Given the description of an element on the screen output the (x, y) to click on. 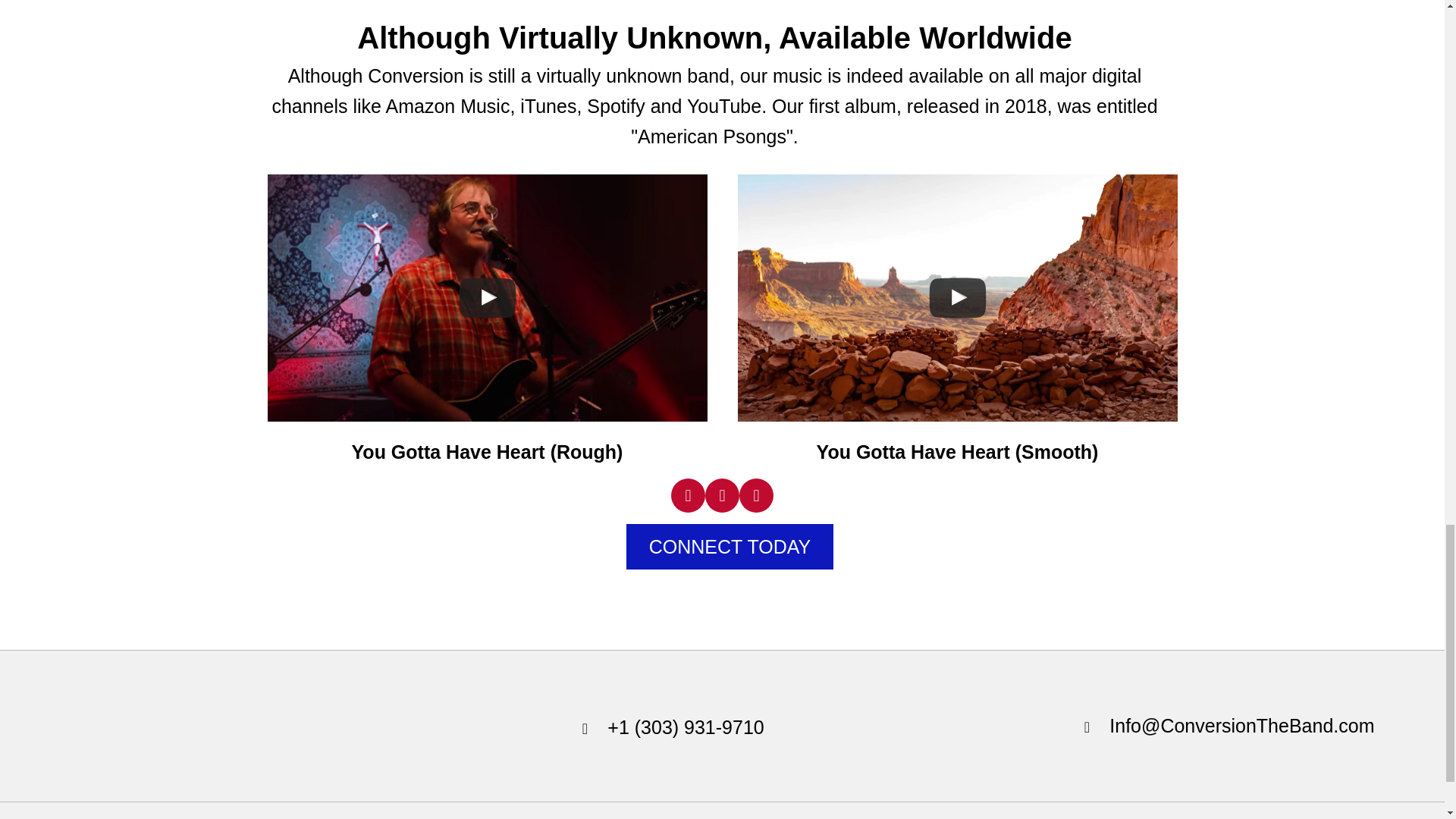
Instagram (756, 495)
CONNECT TODAY (729, 546)
YouTube (721, 495)
Facebook (687, 495)
Conversion (126, 725)
